Given the description of an element on the screen output the (x, y) to click on. 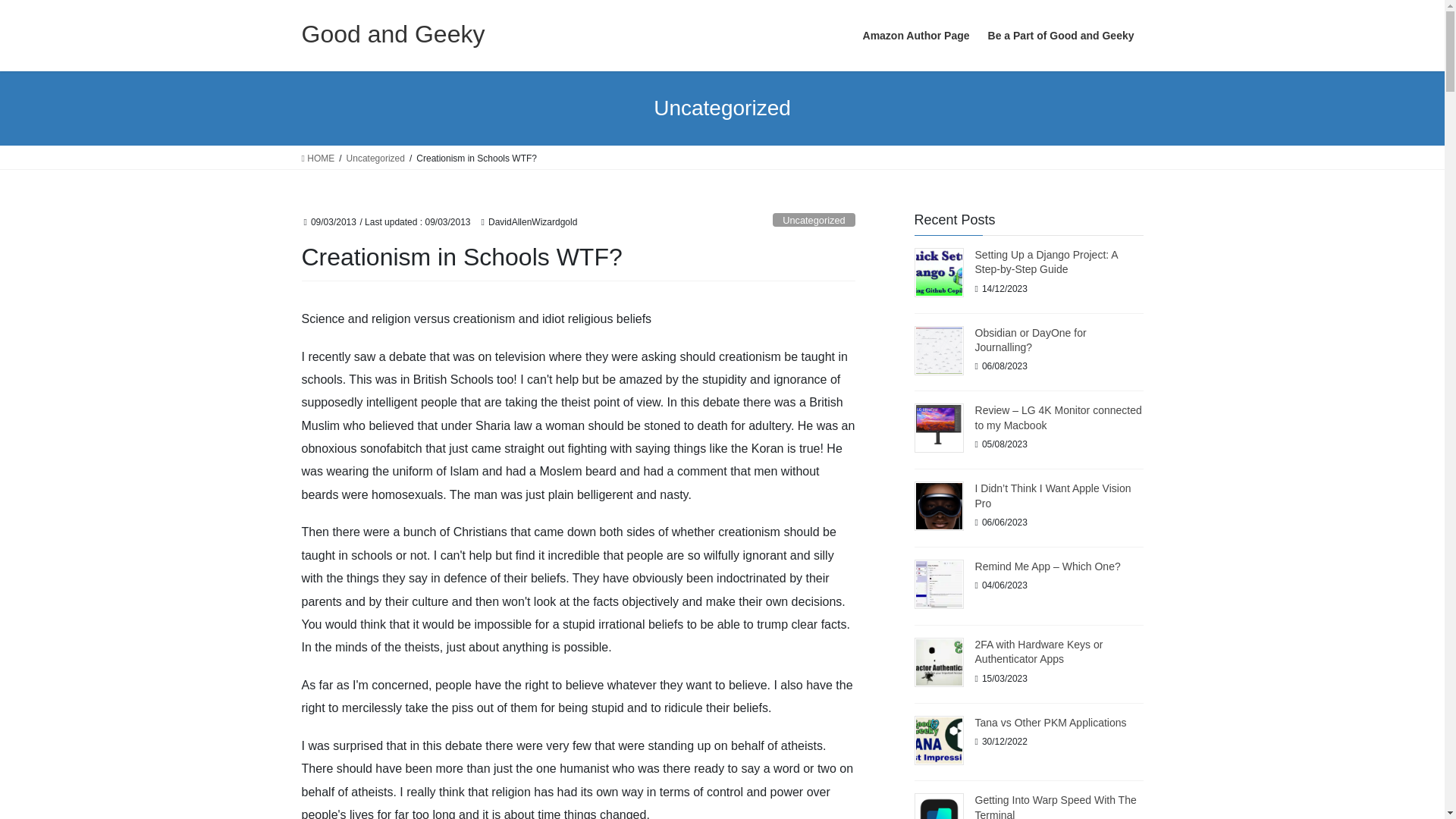
Setting Up a Django Project: A Step-by-Step Guide (1046, 262)
2FA with Hardware Keys or Authenticator Apps (1039, 651)
Obsidian or DayOne for Journalling? (1030, 339)
Uncategorized (375, 157)
Good and Geeky (392, 33)
Uncategorized (813, 219)
Getting Into Warp Speed With The Terminal (1056, 806)
Tana vs Other PKM Applications (1050, 722)
Amazon Author Page (915, 36)
HOME (317, 157)
Be a Part of Good and Geeky (1060, 36)
